Given the description of an element on the screen output the (x, y) to click on. 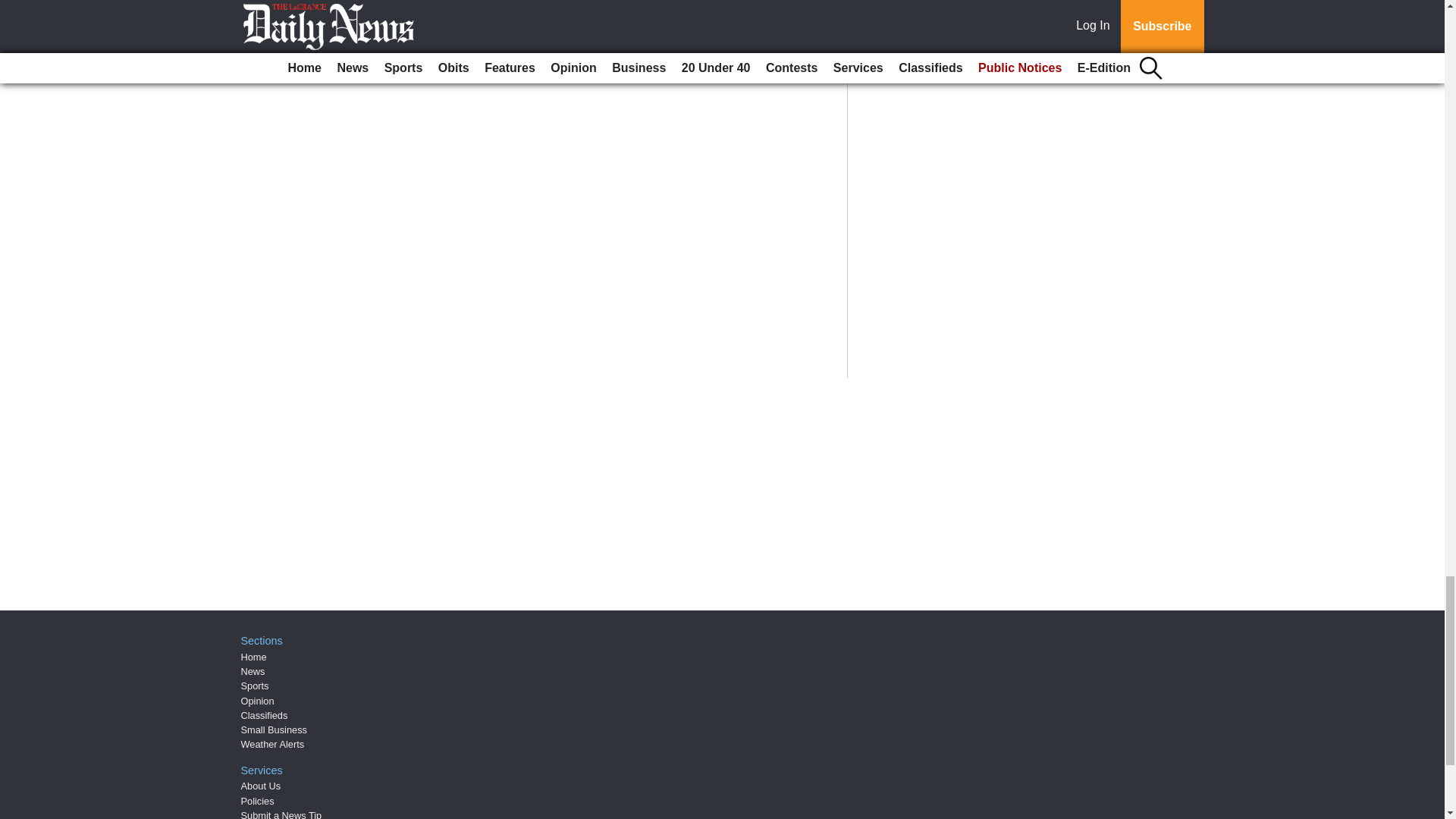
Sports (255, 685)
News (252, 671)
Home (253, 656)
